Given the description of an element on the screen output the (x, y) to click on. 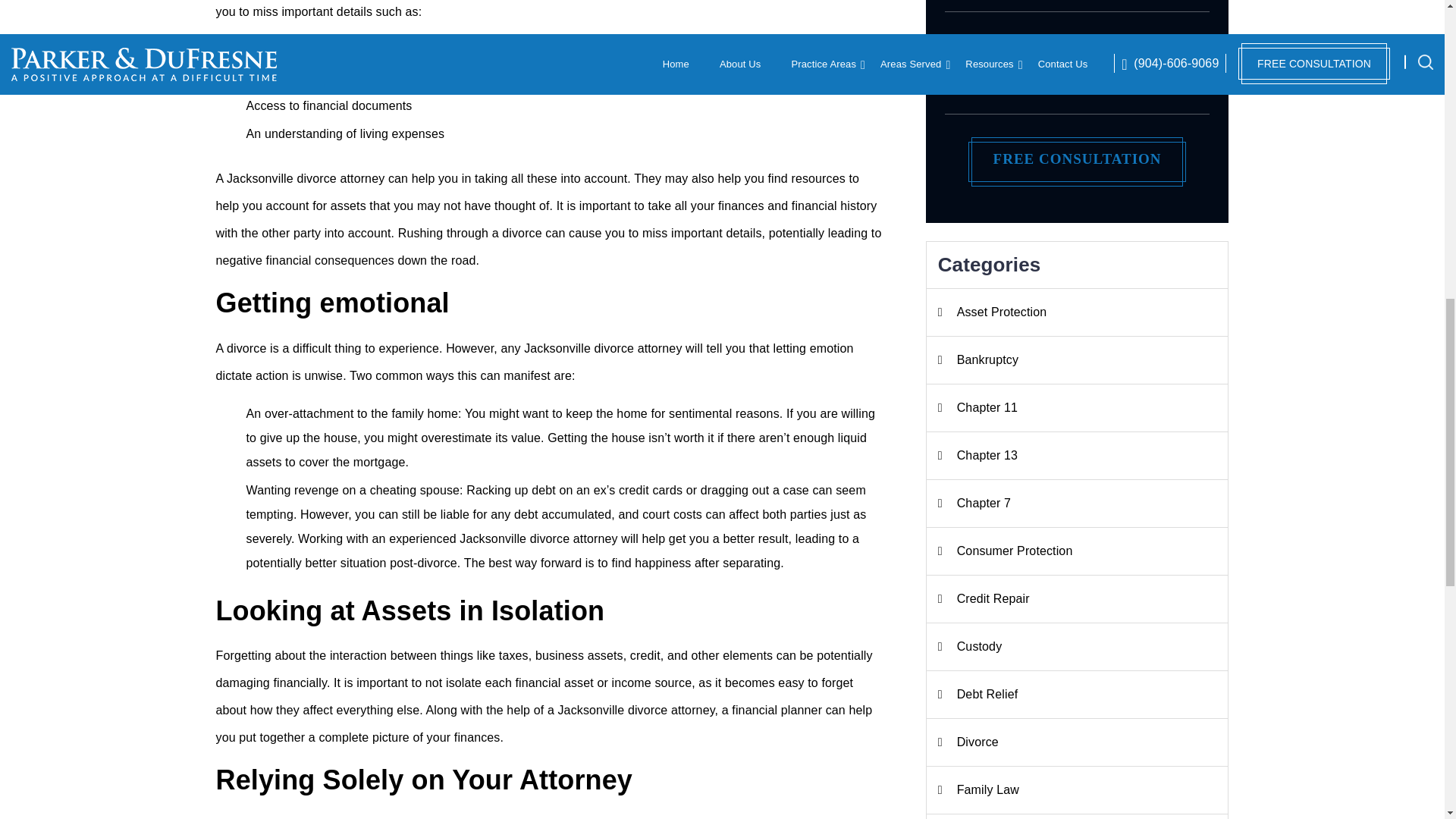
FREE CONSULTATION (1077, 158)
FREE CONSULTATION (1077, 158)
Asset Protection (1077, 311)
